Given the description of an element on the screen output the (x, y) to click on. 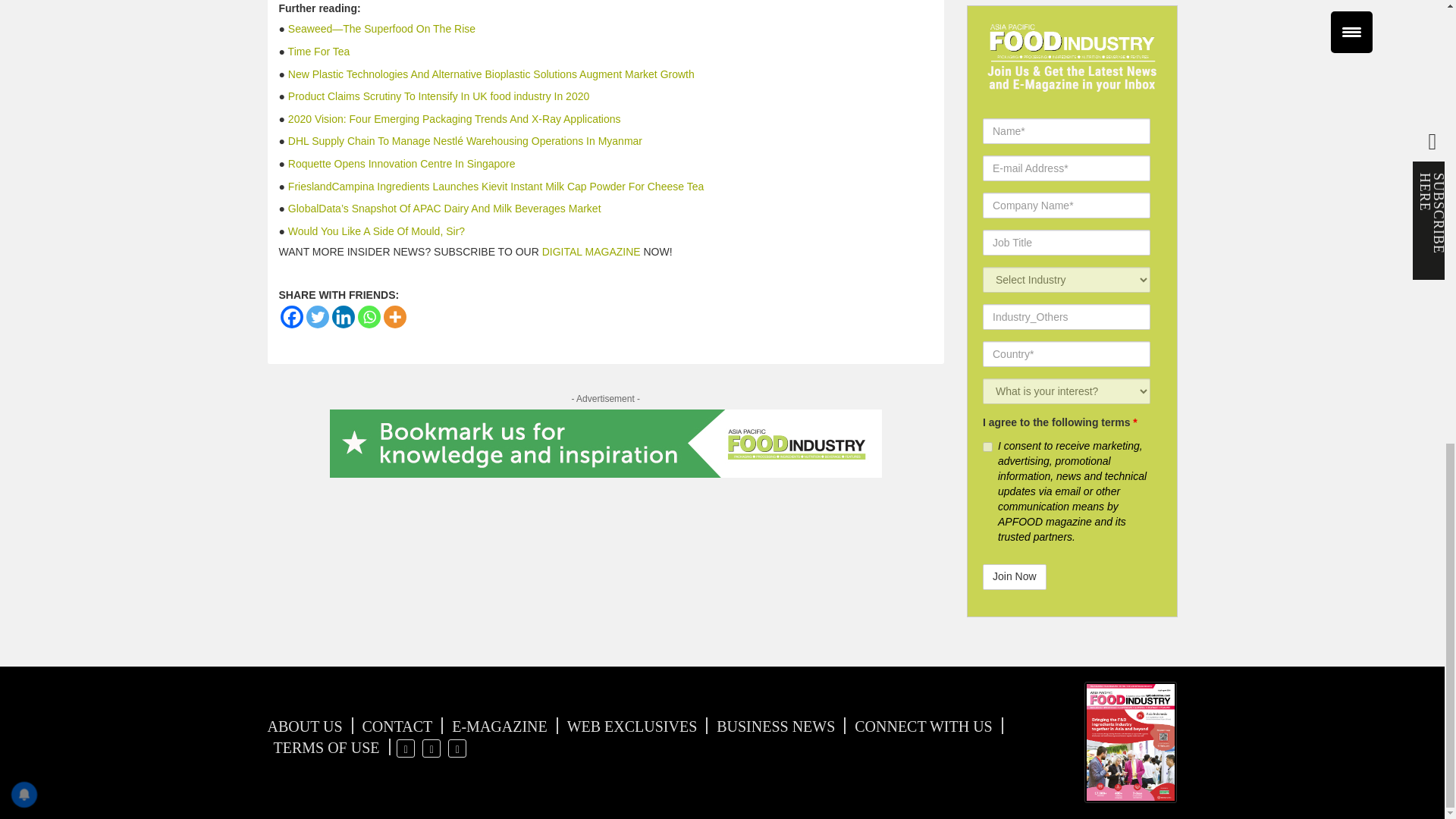
Join Now (1014, 576)
Time For Tea (319, 51)
